Given the description of an element on the screen output the (x, y) to click on. 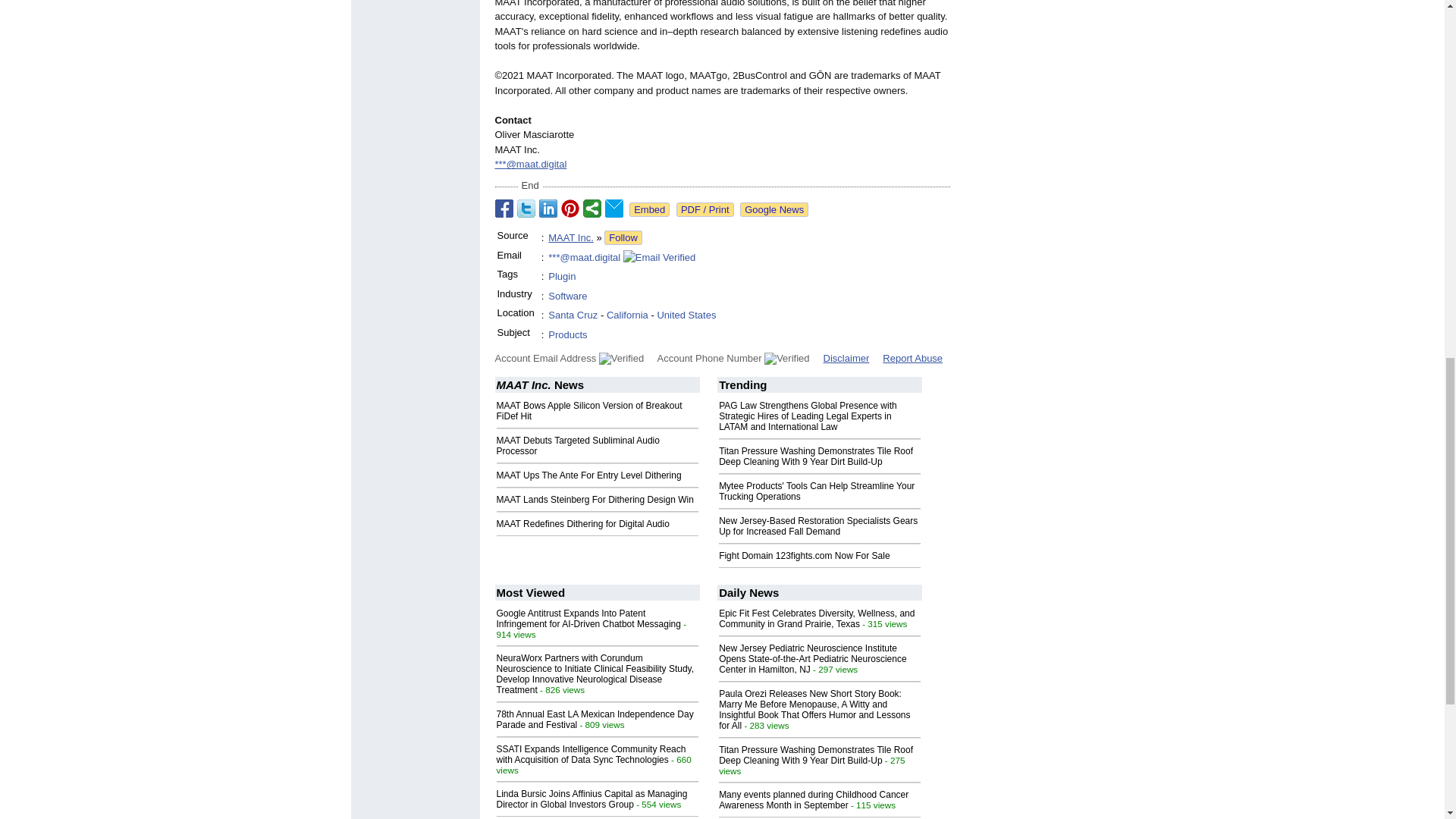
Email to a Friend (614, 208)
Email Verified (659, 257)
Verified (786, 358)
Share on LinkedIn (547, 208)
Share on Facebook (503, 208)
See or print the PDF version! (705, 209)
Verified (620, 358)
Share on Pinterest (569, 208)
Embed (648, 209)
